Given the description of an element on the screen output the (x, y) to click on. 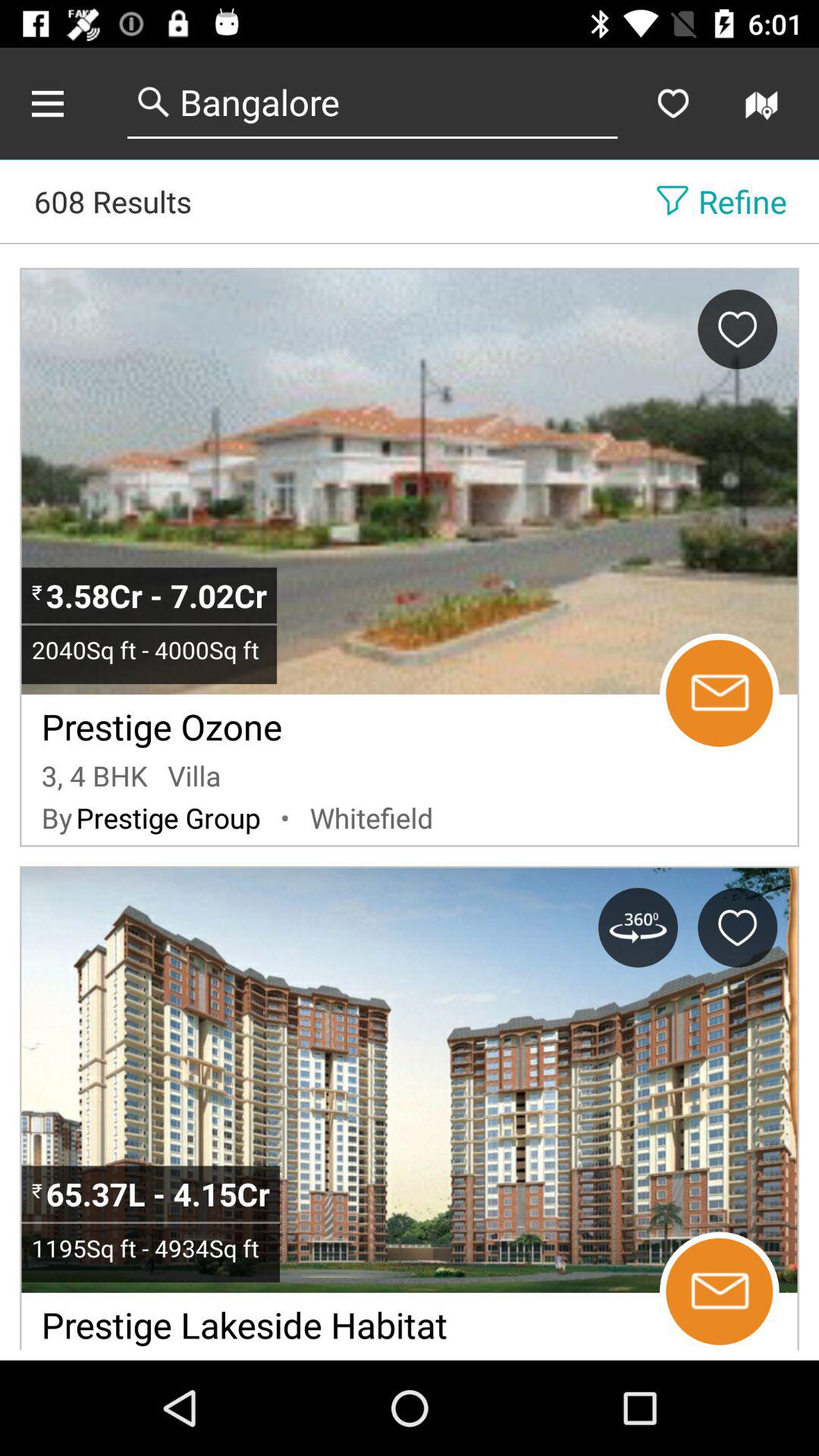
favorite (737, 329)
